Given the description of an element on the screen output the (x, y) to click on. 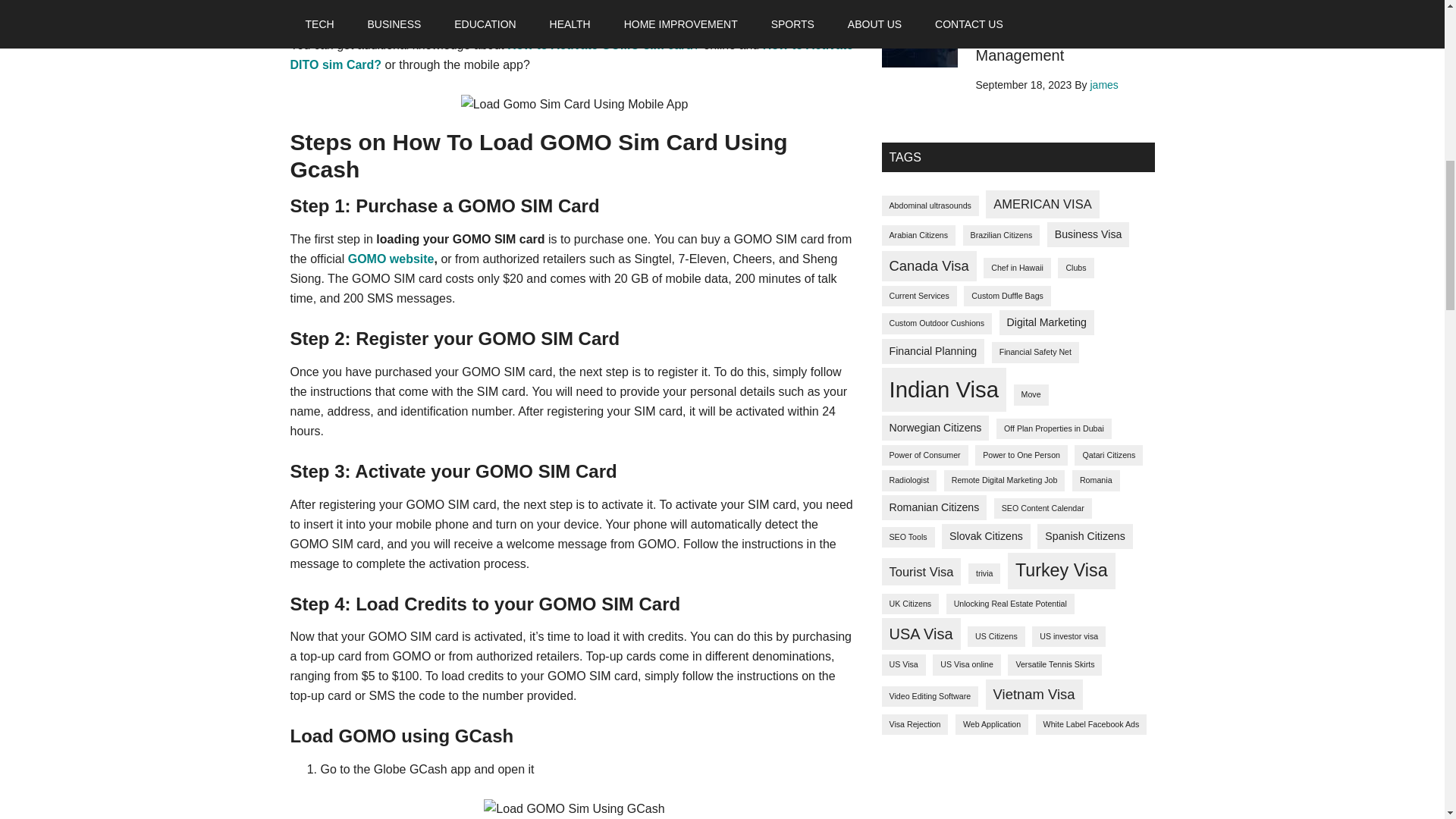
How to Activate DITO sim Card? (571, 54)
GOMO website (390, 258)
How to Activate GOMO sim card? (603, 44)
